Given the description of an element on the screen output the (x, y) to click on. 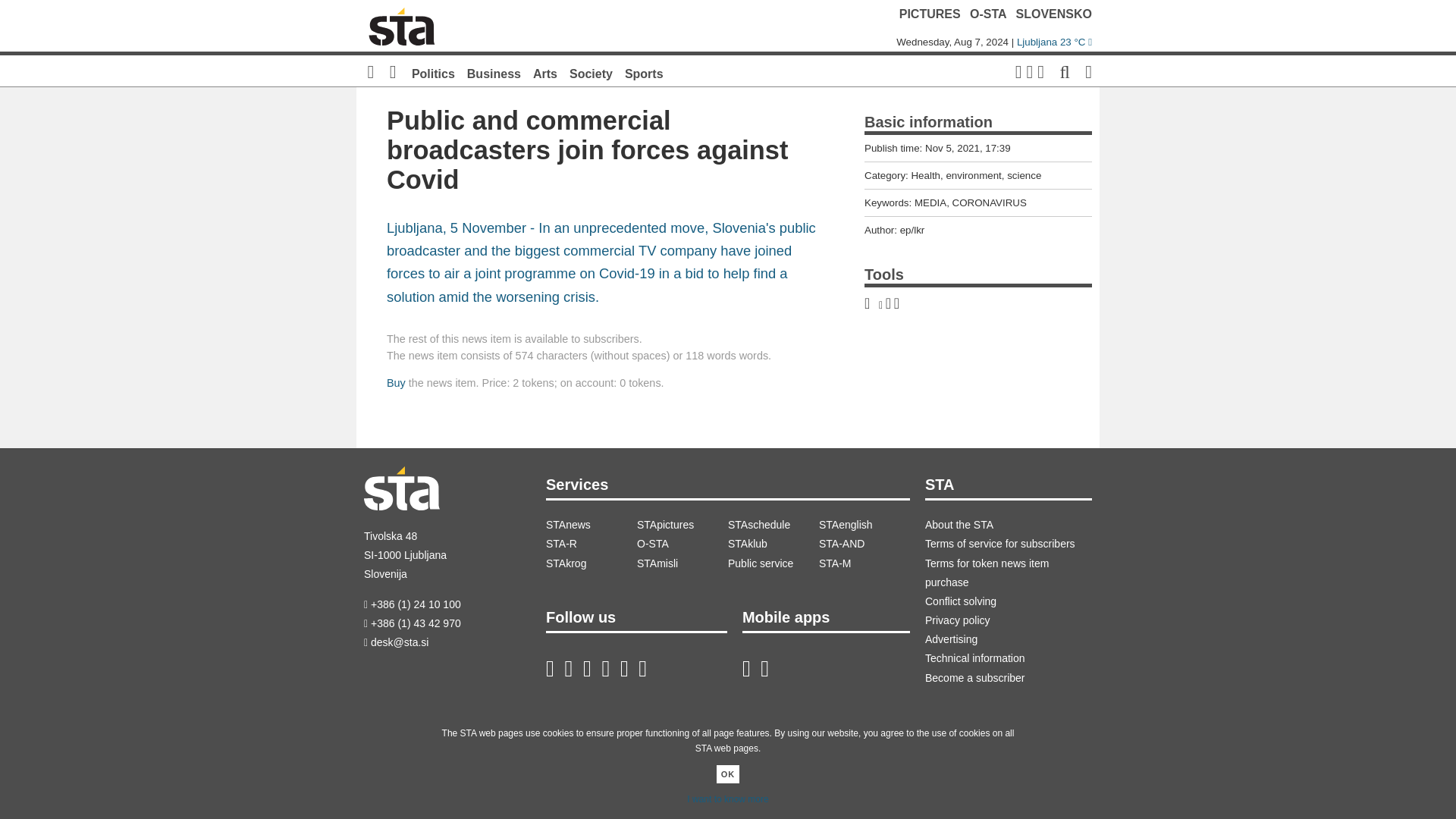
STAkrog (591, 563)
STAschedule (773, 524)
Politics (433, 73)
Business (494, 73)
O-STA (682, 543)
Buy (396, 382)
Society (590, 73)
Public service (773, 563)
O-STA (987, 13)
Arts (544, 73)
